Given the description of an element on the screen output the (x, y) to click on. 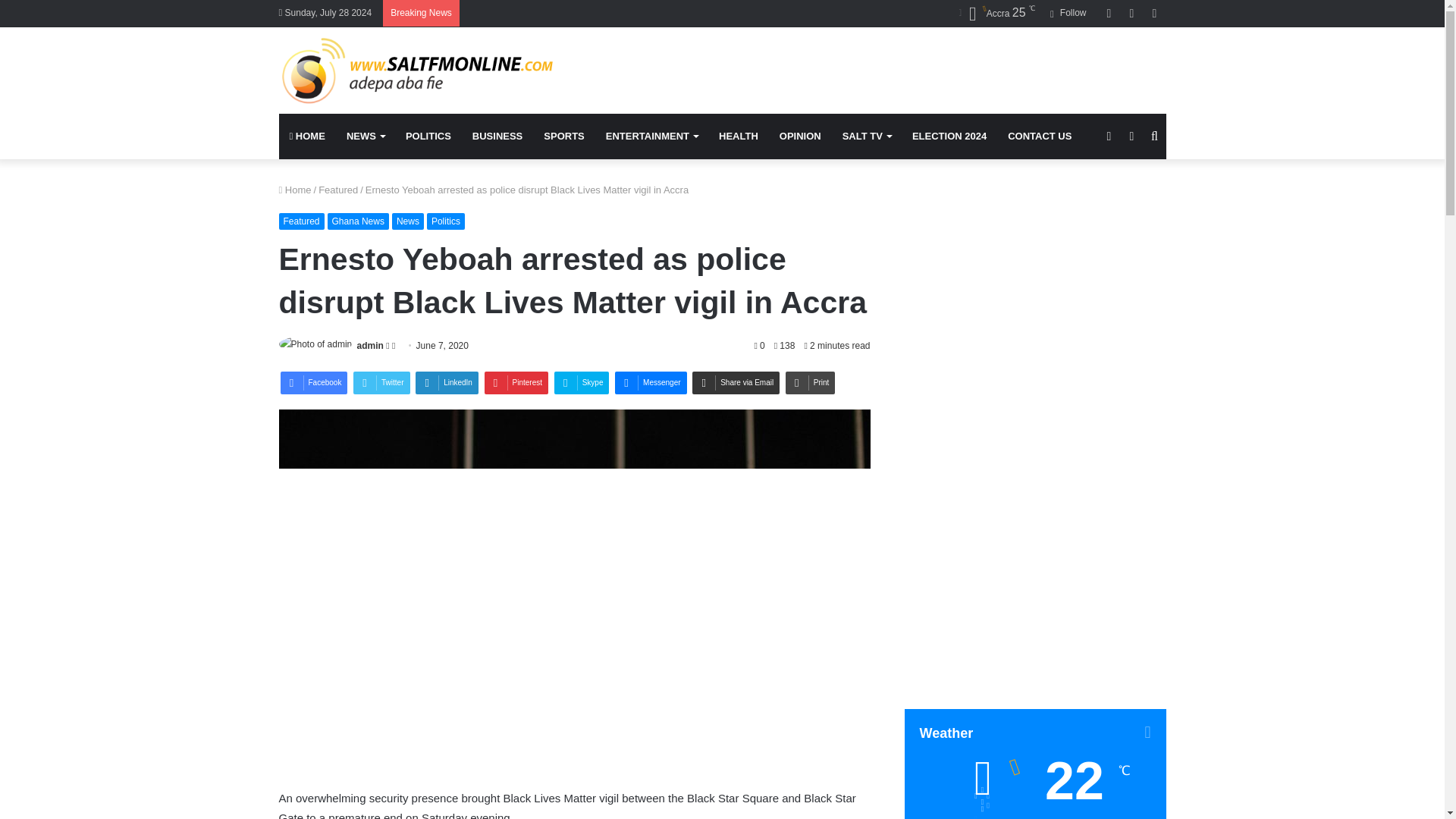
saltfmonline.com (419, 70)
Scattered Clouds (997, 13)
admin (370, 345)
OPINION (799, 135)
Random Article (1131, 13)
ENTERTAINMENT (651, 135)
SPORTS (563, 135)
Follow on Twitter (388, 345)
Messenger (649, 382)
LinkedIn (446, 382)
Facebook (314, 382)
POLITICS (427, 135)
Switch skin (1131, 135)
Follow (1068, 13)
